Given the description of an element on the screen output the (x, y) to click on. 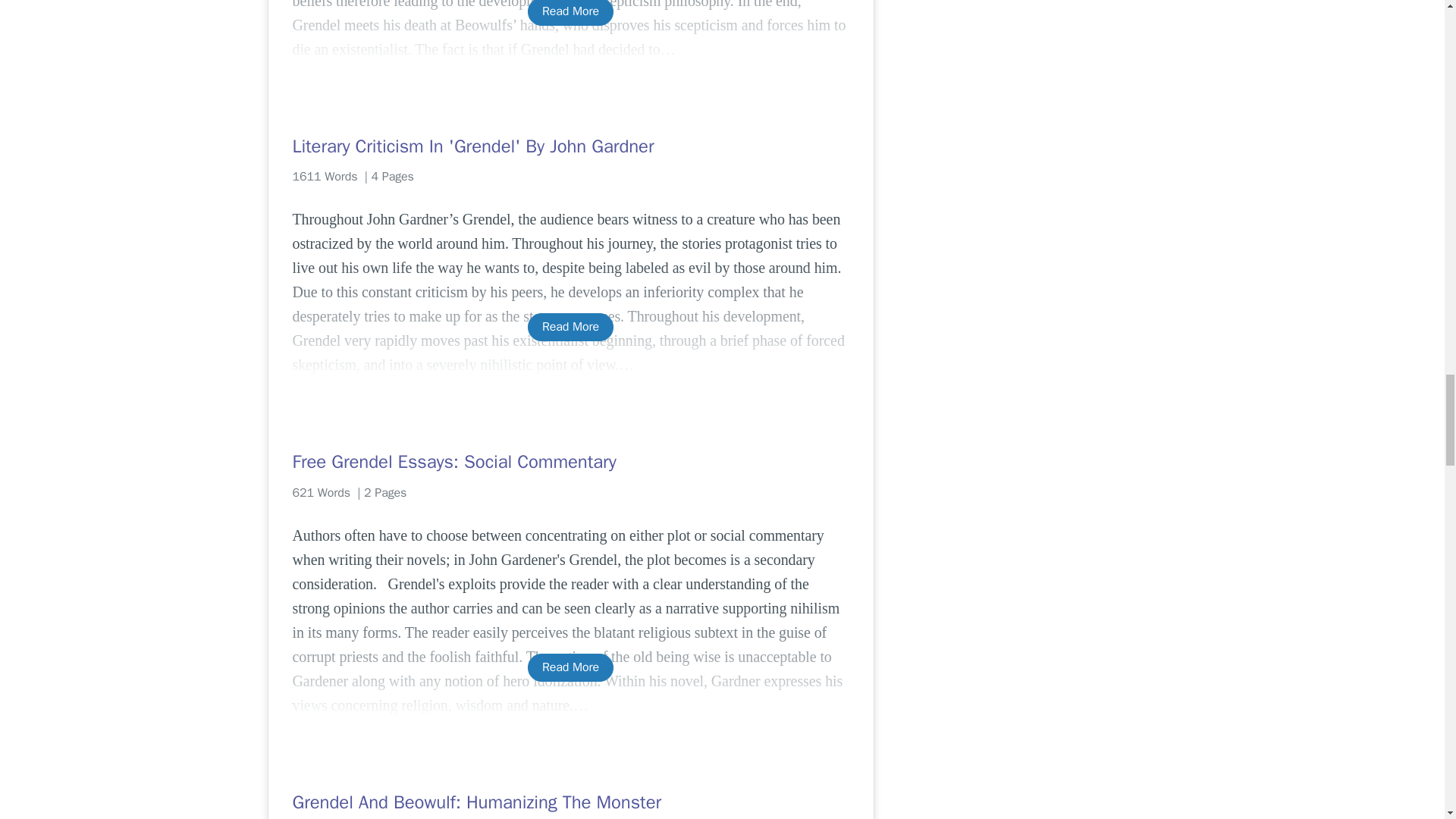
Read More (569, 667)
Literary Criticism In 'Grendel' By John Gardner (570, 146)
Read More (569, 326)
Read More (569, 12)
Grendel And Beowulf: Humanizing The Monster (570, 802)
Free Grendel Essays: Social Commentary (570, 461)
